Given the description of an element on the screen output the (x, y) to click on. 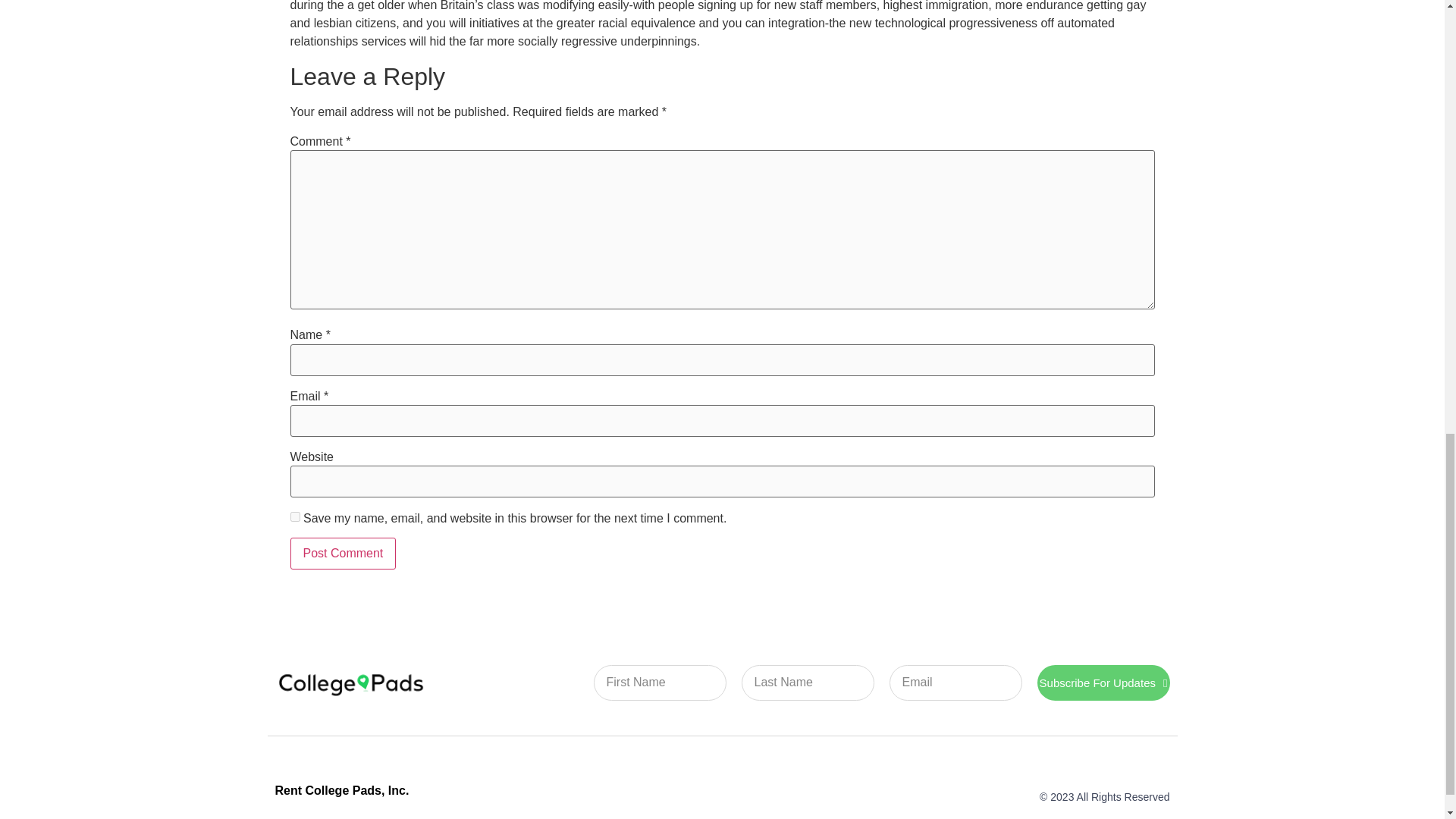
yes (294, 516)
Post Comment (342, 553)
Subscribe For Updates (1103, 683)
Post Comment (342, 553)
